Given the description of an element on the screen output the (x, y) to click on. 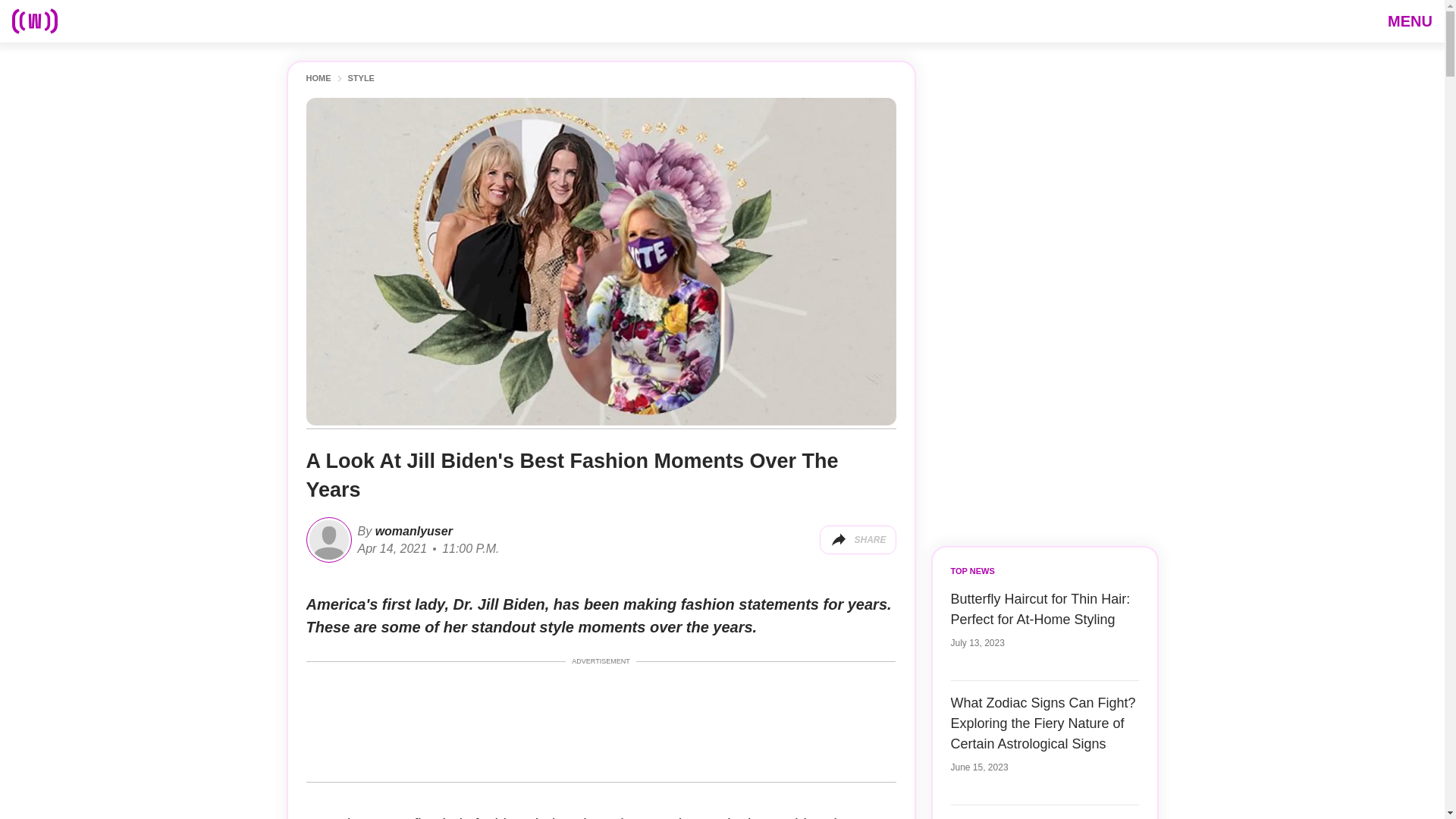
SHARE (857, 539)
womanlyuser (411, 530)
MENU (1409, 20)
HOME (318, 78)
STYLE (360, 78)
